Given the description of an element on the screen output the (x, y) to click on. 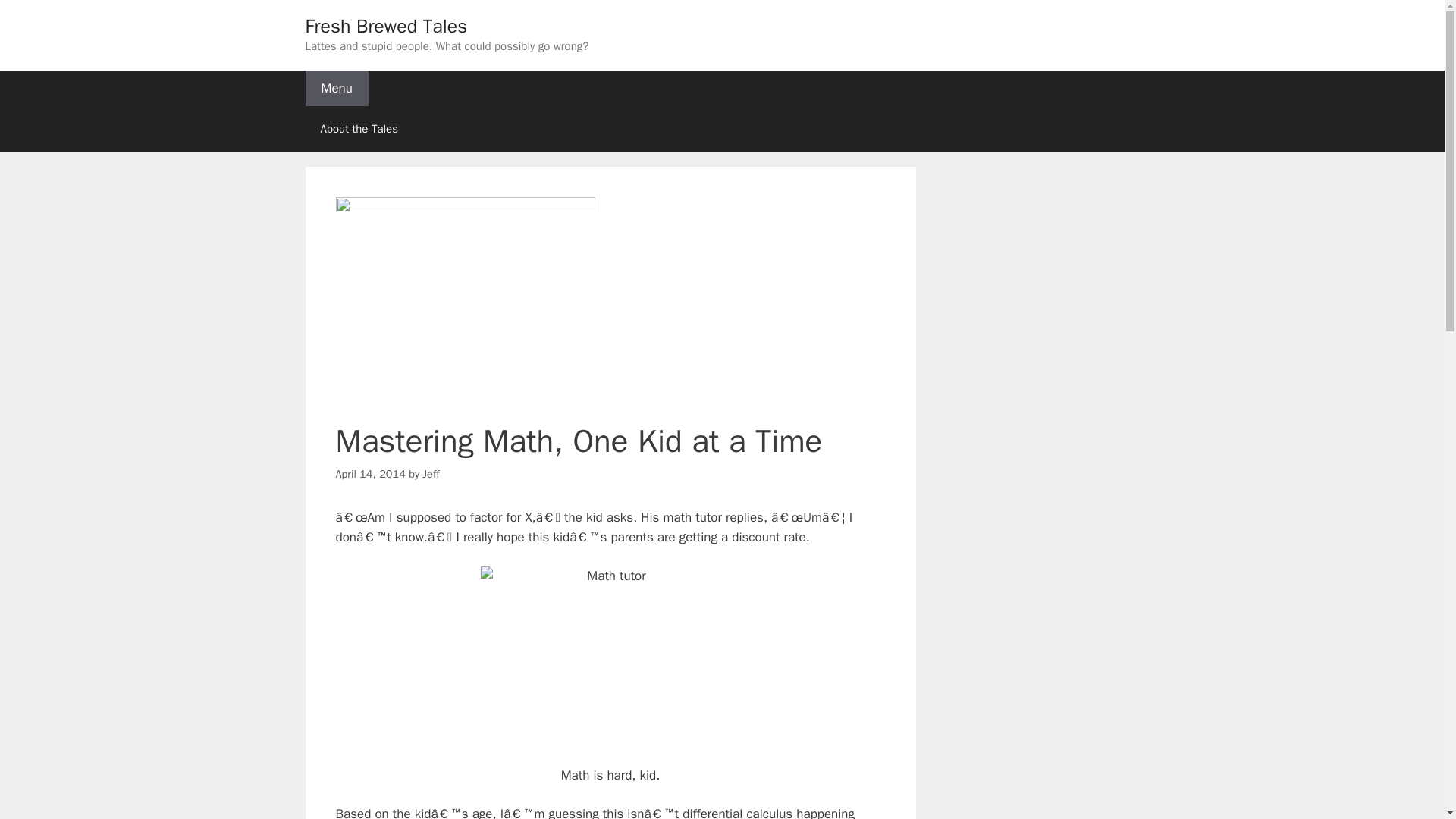
About the Tales (358, 128)
Fresh Brewed Tales (385, 25)
View all posts by Jeff (430, 473)
Jeff (430, 473)
Menu (336, 87)
